Given the description of an element on the screen output the (x, y) to click on. 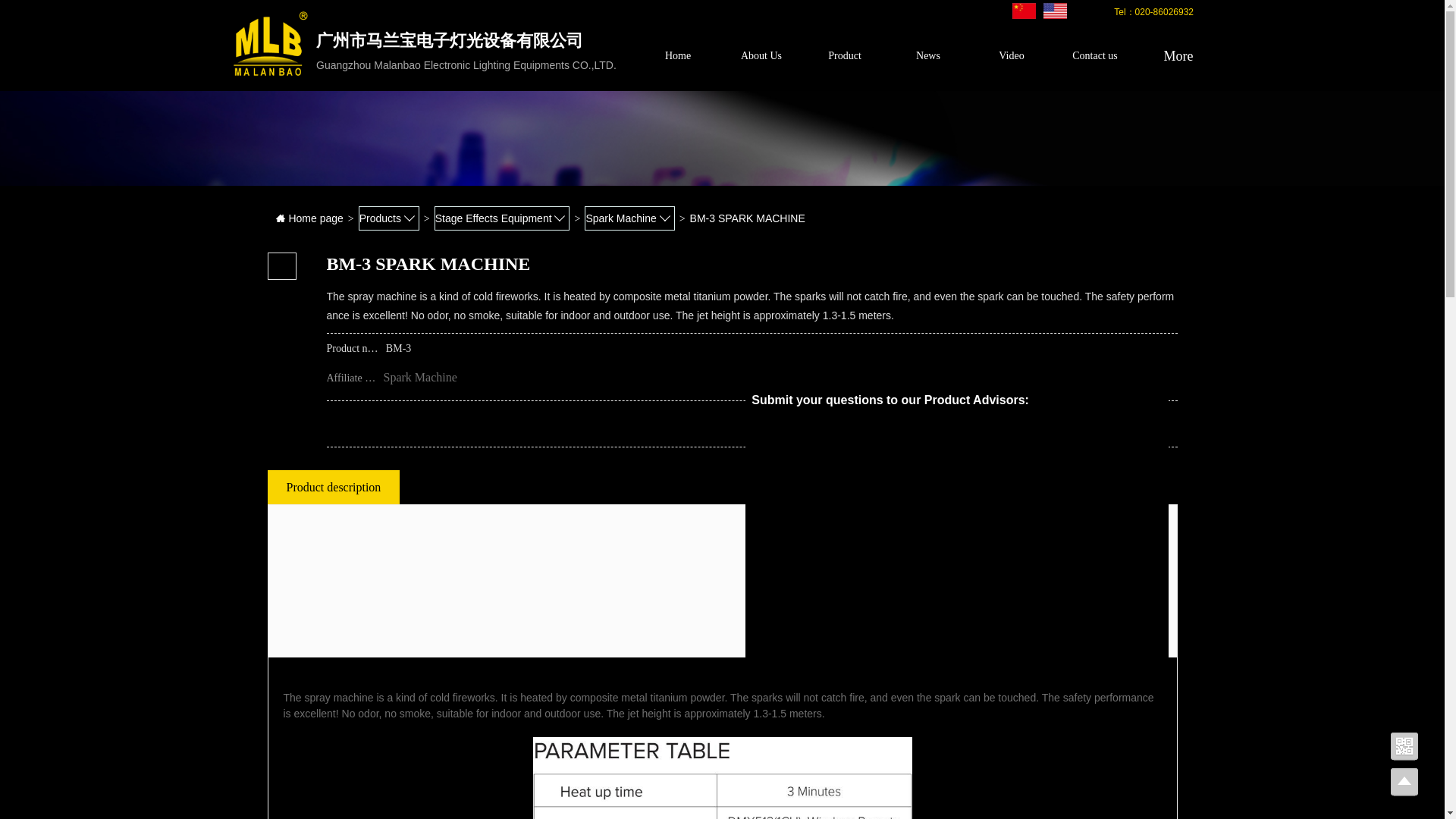
Spark Machine (629, 218)
Contact us (1094, 55)
Products (388, 218)
Spark Machine (420, 377)
About Us (761, 55)
Home page (308, 218)
logo (269, 43)
Malanbao (1055, 10)
Malanbao (1023, 10)
Stage Effects Equipment (501, 218)
More (1178, 55)
